Given the description of an element on the screen output the (x, y) to click on. 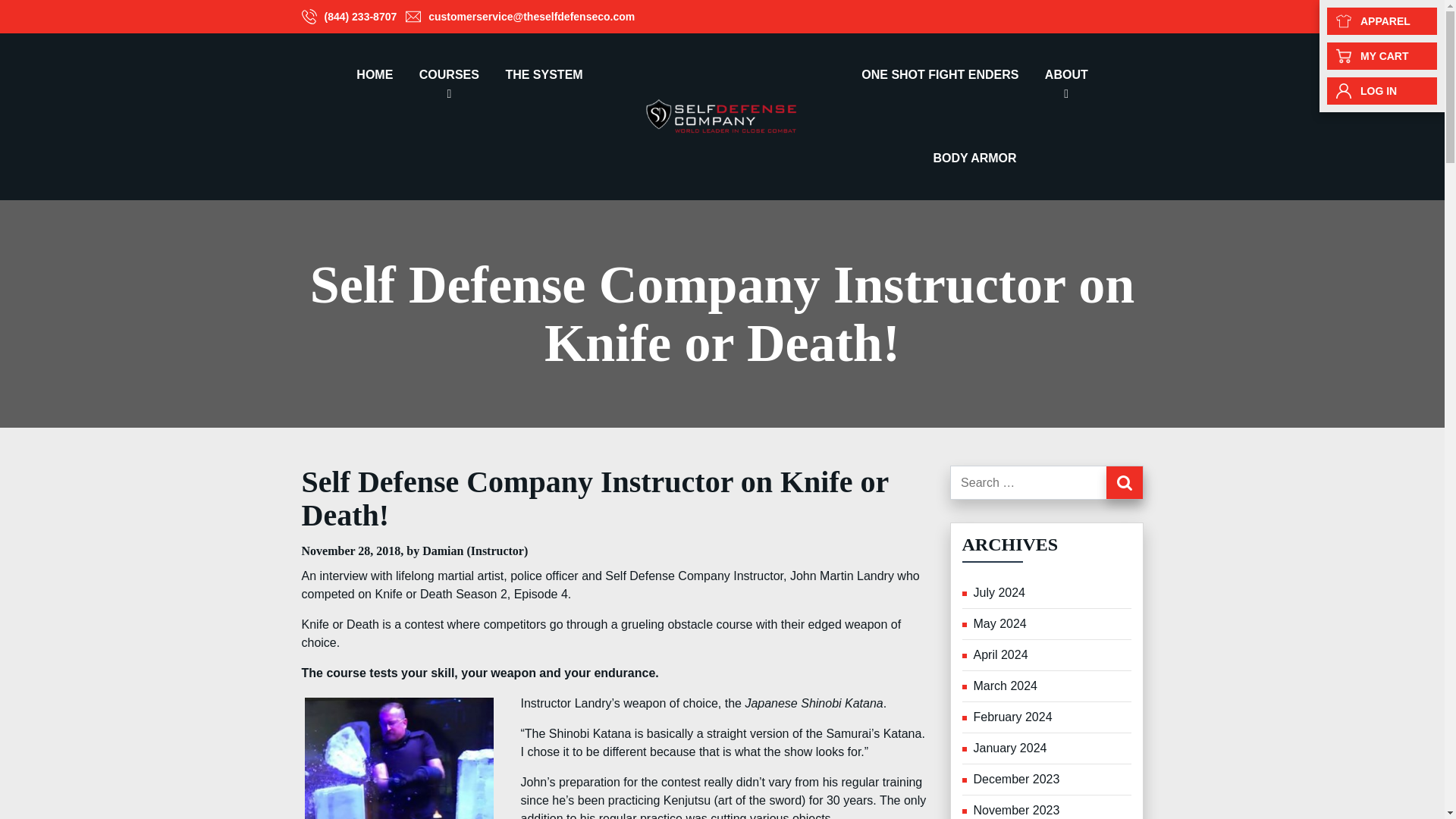
MY CART (1381, 55)
BODY ARMOR (974, 158)
Search (1123, 482)
The Self Defense Company (722, 115)
LOG IN (1381, 90)
APPAREL (1381, 21)
COURSES (448, 75)
Knife or Death Season 2, Episode 4. (472, 594)
ONE SHOT FIGHT ENDERS (939, 75)
THE SYSTEM (543, 75)
Search (1123, 482)
